Given the description of an element on the screen output the (x, y) to click on. 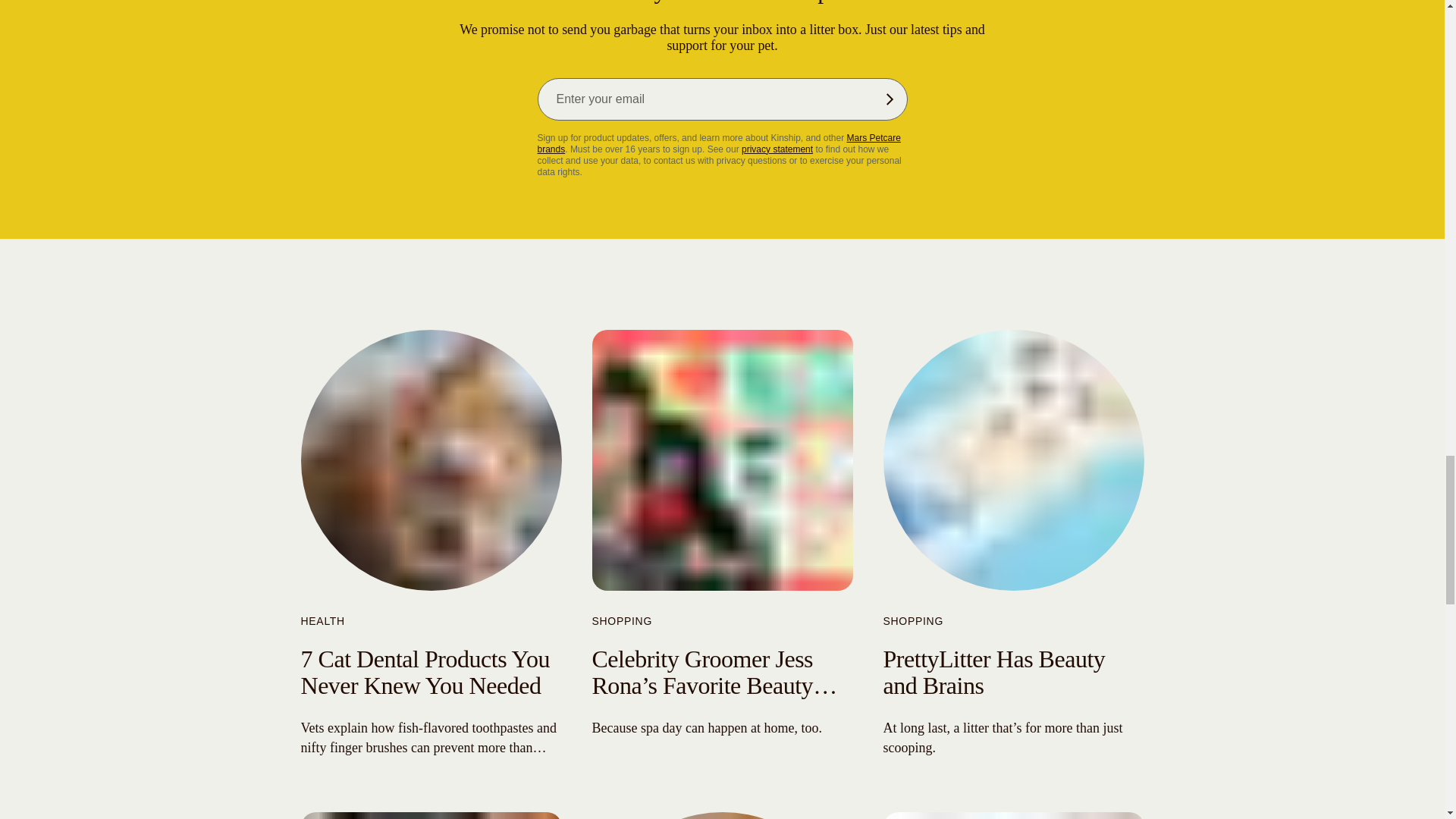
Mars Petcare brands (718, 143)
PrettyLitter Has Beauty and Brains (993, 672)
privacy statement (776, 149)
7 Cat Dental Products You Never Knew You Needed (423, 672)
